Given the description of an element on the screen output the (x, y) to click on. 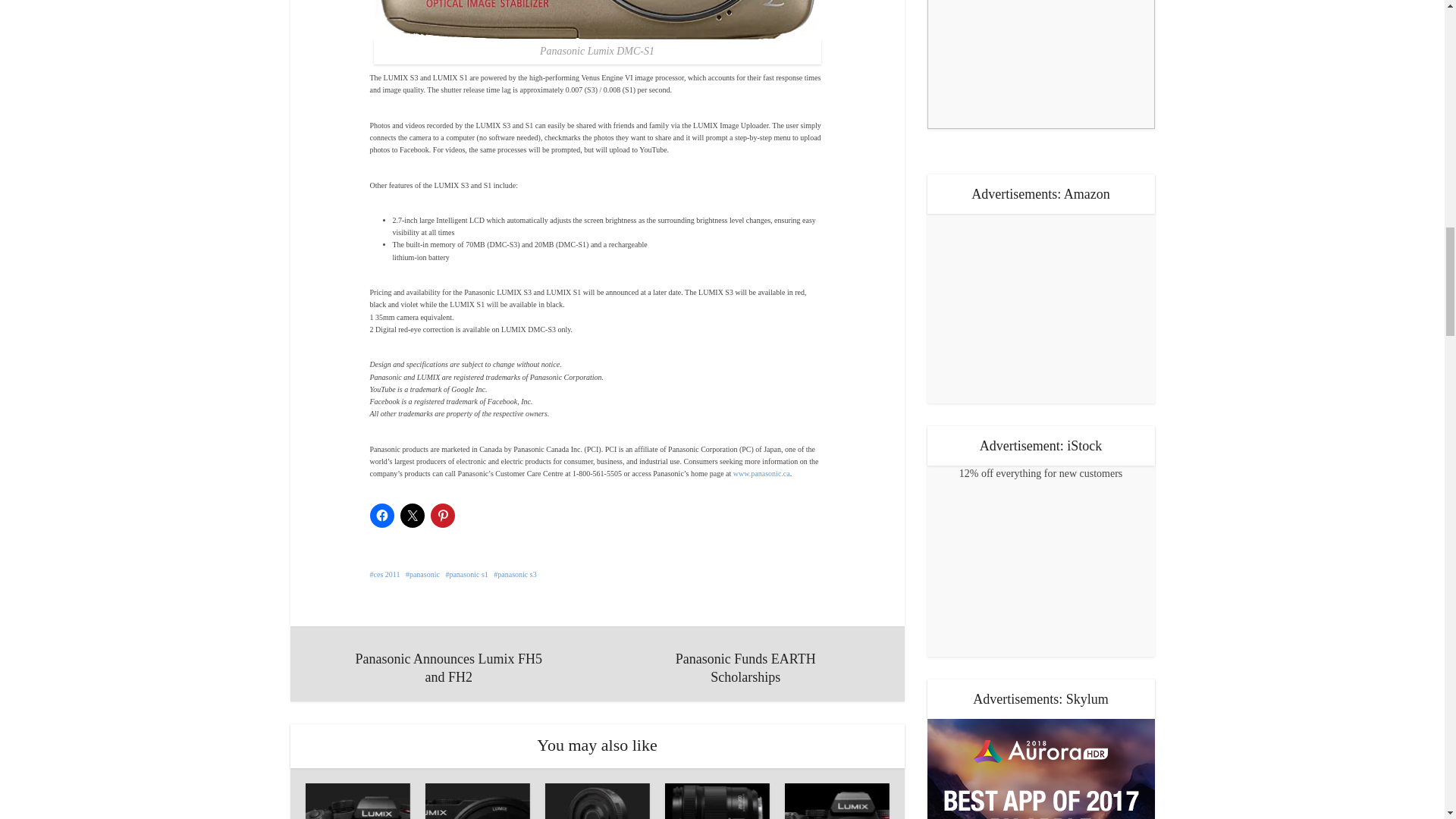
Click to share on Facebook (381, 515)
panasonic (422, 574)
panasonic s3 (514, 574)
Click to share on Pinterest (442, 515)
Click to share on X (412, 515)
ces 2011 (384, 574)
Panasonic Announces Lumix FH5 and FH2 (449, 664)
www.panasonic.ca (761, 473)
Panasonic Funds EARTH Scholarships (745, 664)
panasonic s1 (466, 574)
